Given the description of an element on the screen output the (x, y) to click on. 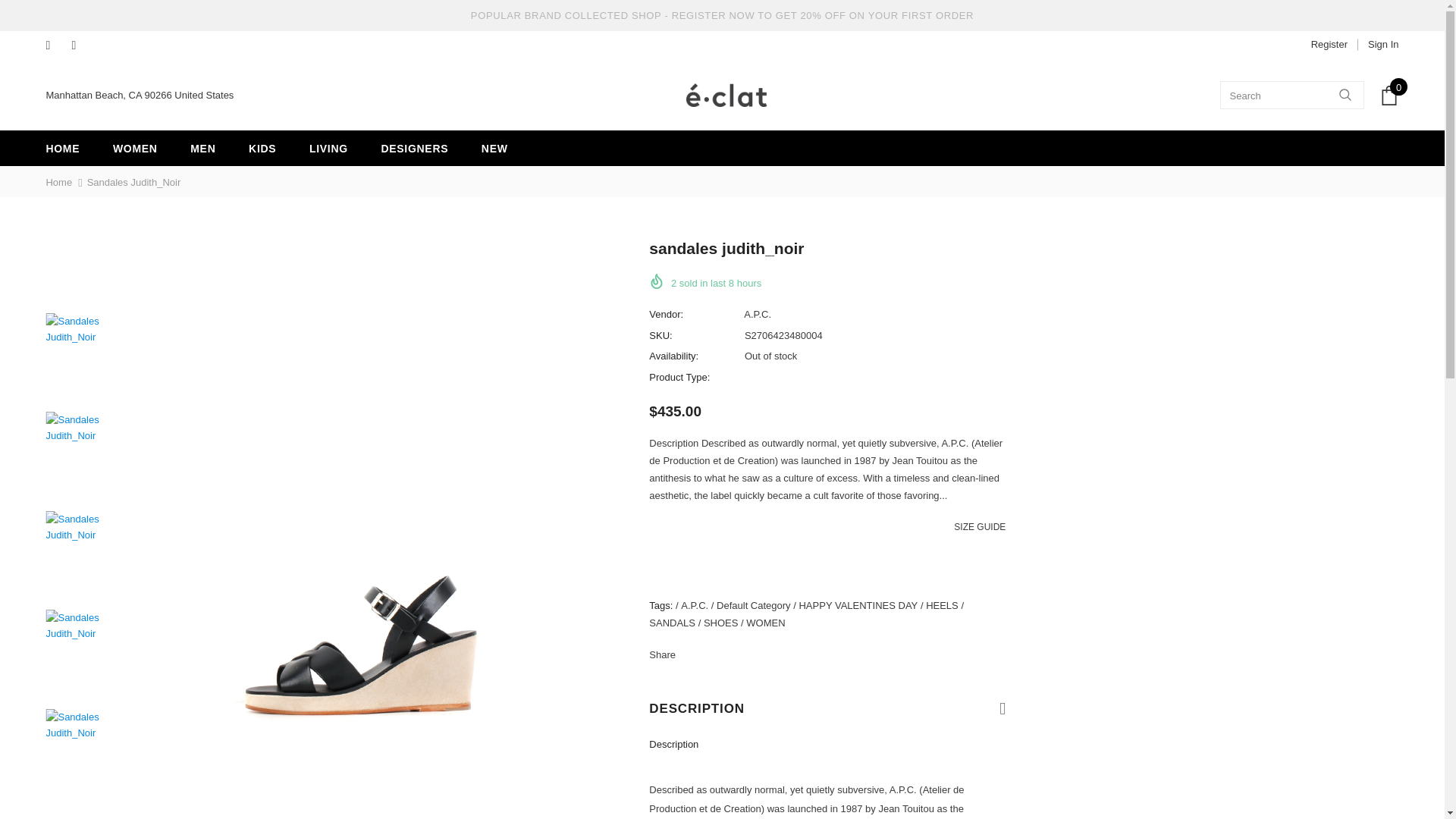
Register (1329, 44)
Logo (726, 95)
Sign In (1376, 44)
LIVING (327, 148)
DESIGNERS (414, 148)
Instagram (80, 45)
HOME (62, 148)
0 (1388, 94)
Sold Out (734, 564)
WOMEN (135, 148)
